Given the description of an element on the screen output the (x, y) to click on. 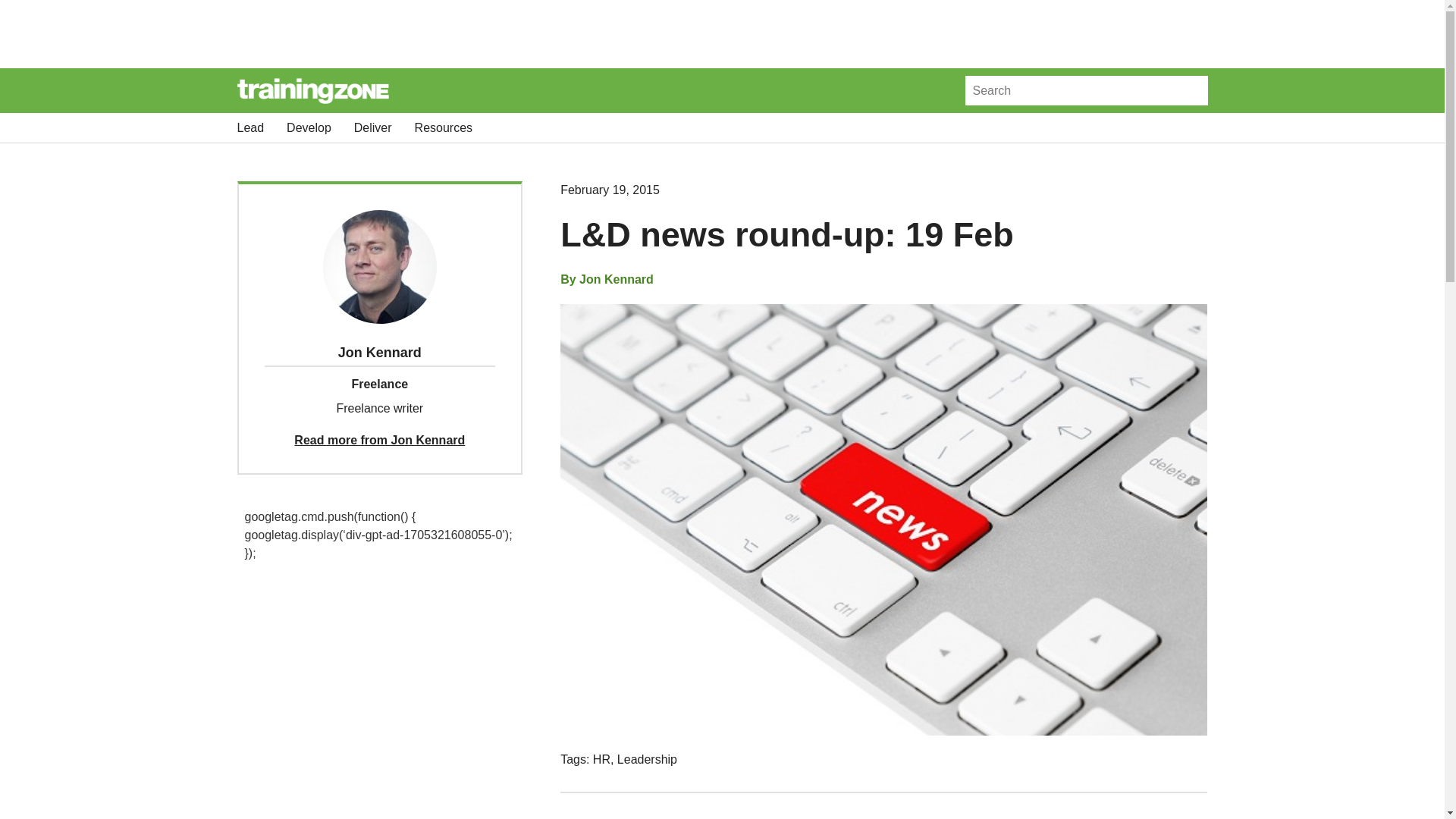
Develop (308, 127)
Deliver (372, 127)
Lead (249, 127)
Resources (442, 127)
Leadership (647, 758)
By Jon Kennard (606, 280)
Read more from Jon Kennard (379, 440)
HR (601, 758)
